Given the description of an element on the screen output the (x, y) to click on. 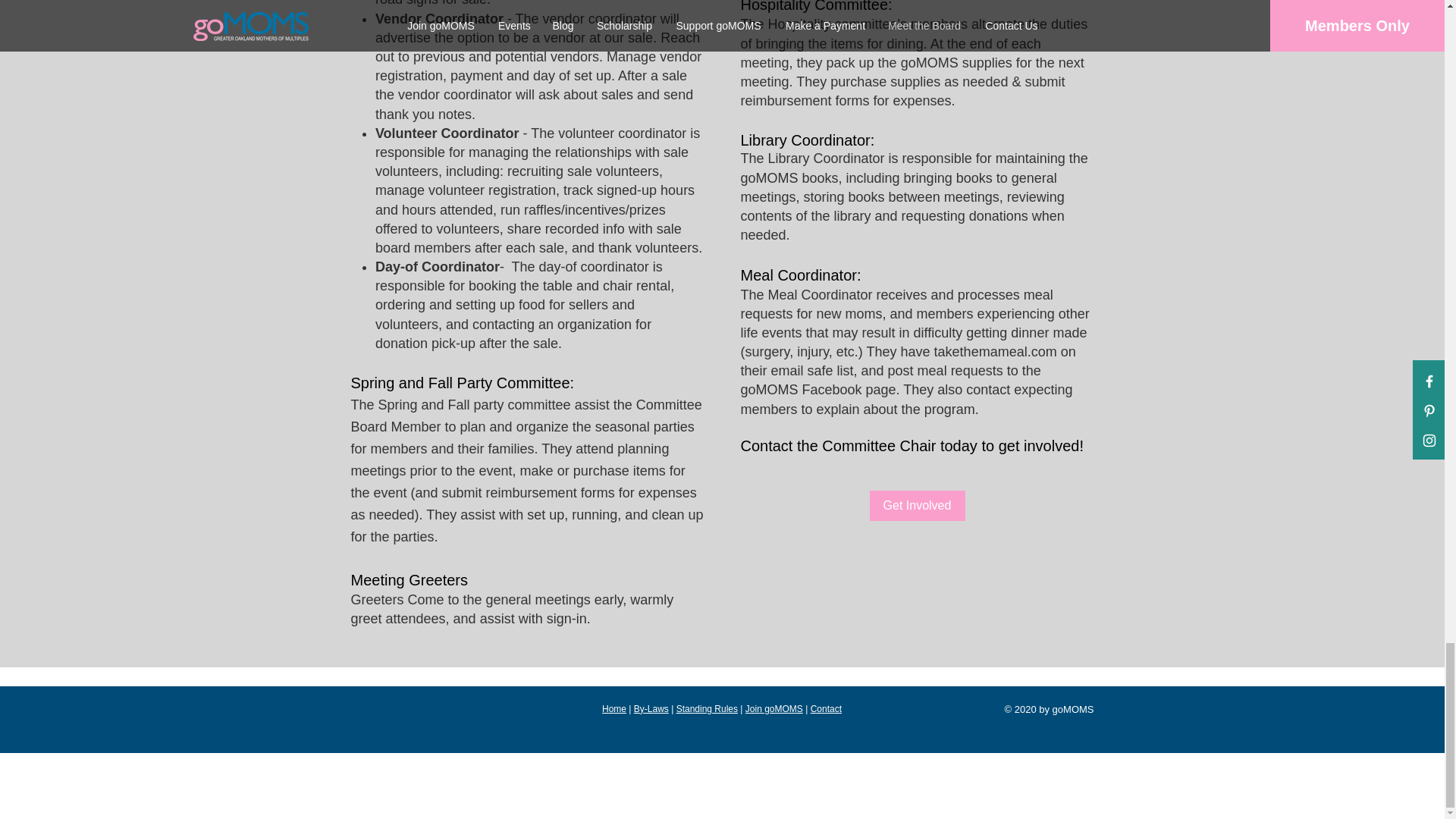
Join goMOMS (774, 708)
Contact (825, 708)
Home (614, 708)
By-Laws (650, 708)
Get Involved (916, 505)
Standing Rules (707, 708)
